Given the description of an element on the screen output the (x, y) to click on. 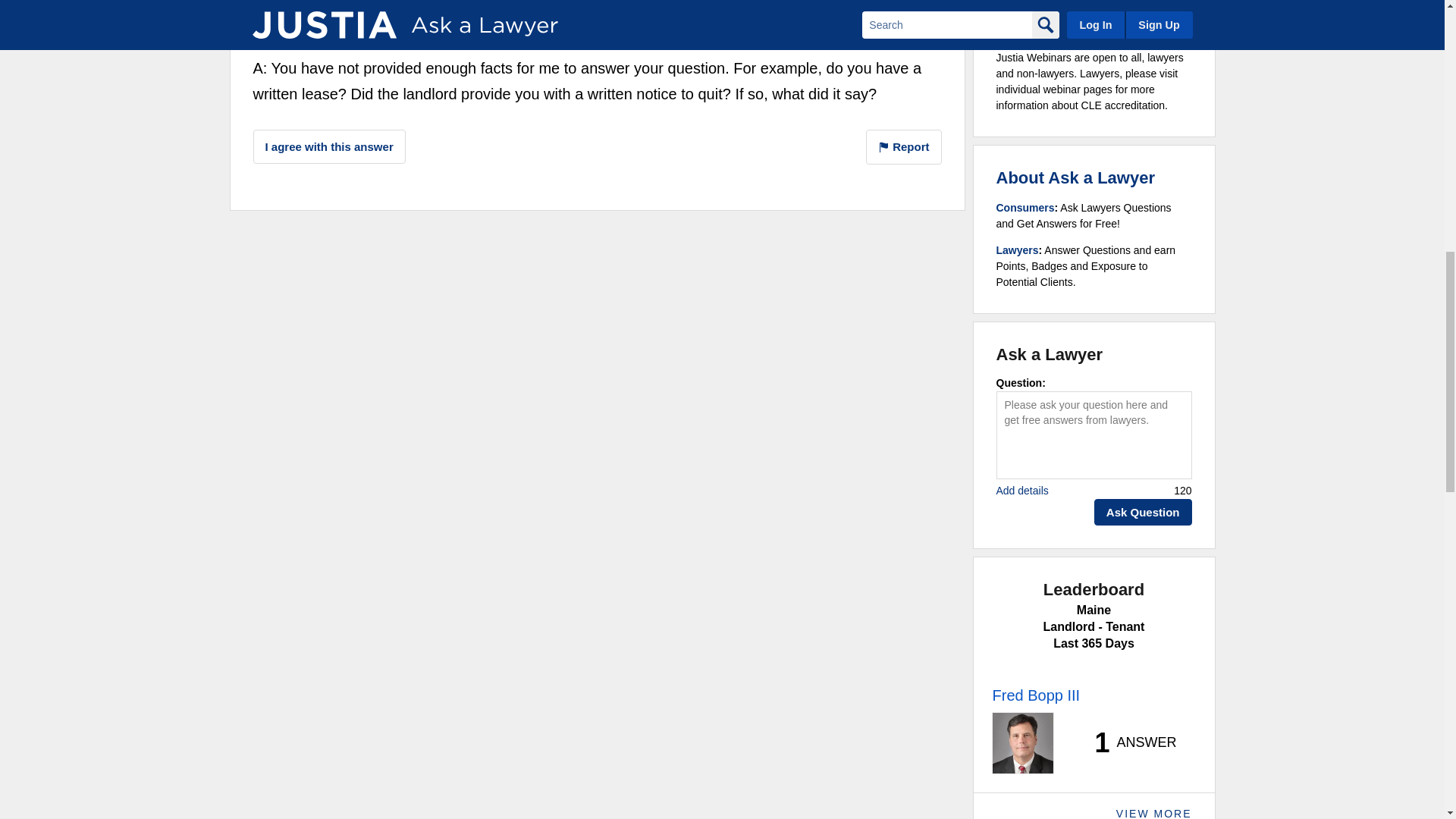
Fred Bopp III (313, 16)
Report (904, 147)
Ask a Lawyer - Leaderboard - Lawyer Name (1035, 694)
view website (671, 21)
I agree with this answer (329, 146)
Ask a Lawyer - FAQs - Lawyers (1017, 250)
Ask a Lawyer - Leaderboard - Lawyer Stats (1127, 742)
email lawyer (670, 2)
Ask a Lawyer - Leaderboard - Lawyer Photo (1021, 742)
